Given the description of an element on the screen output the (x, y) to click on. 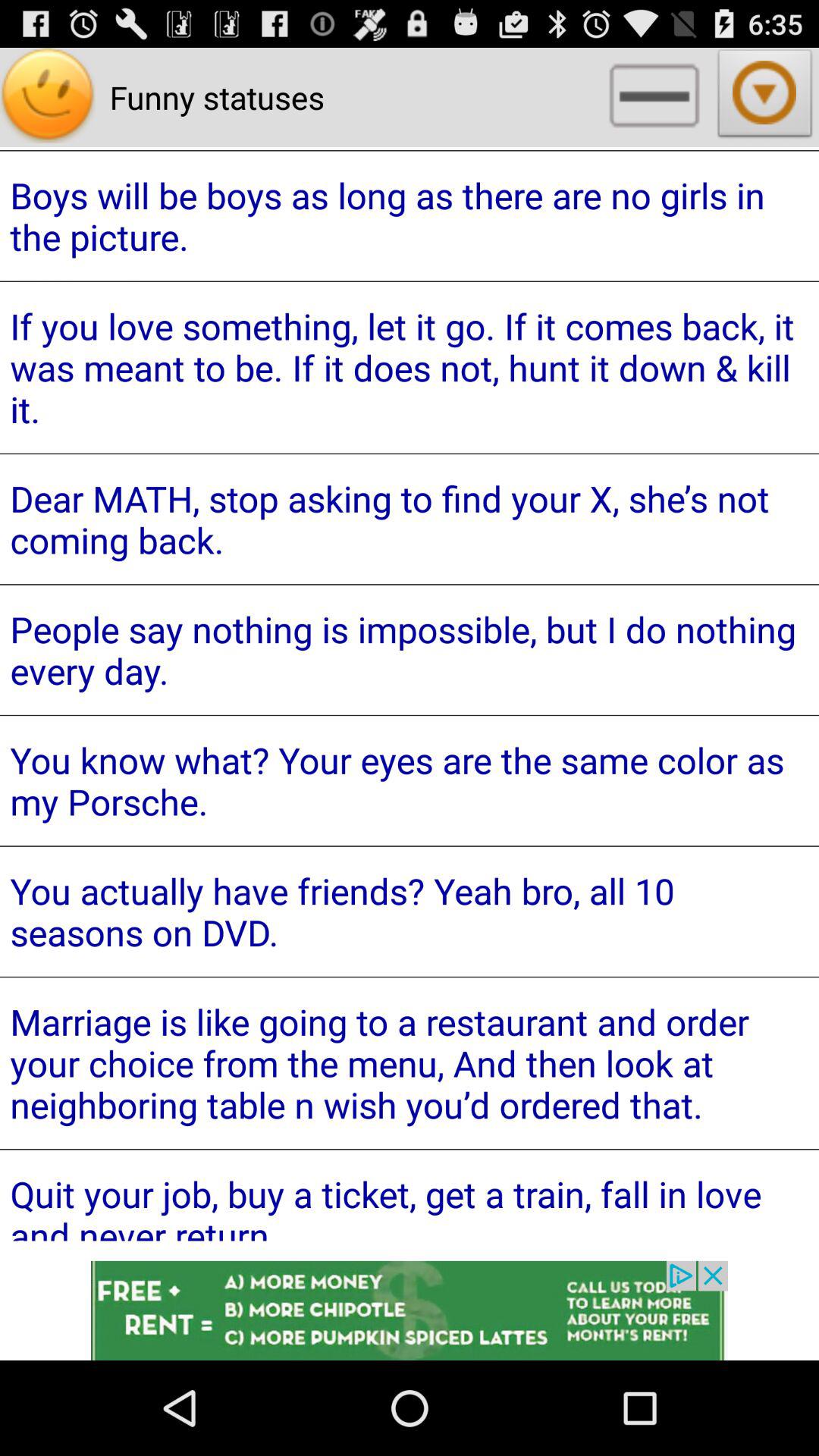
open advertisements (409, 1310)
